Given the description of an element on the screen output the (x, y) to click on. 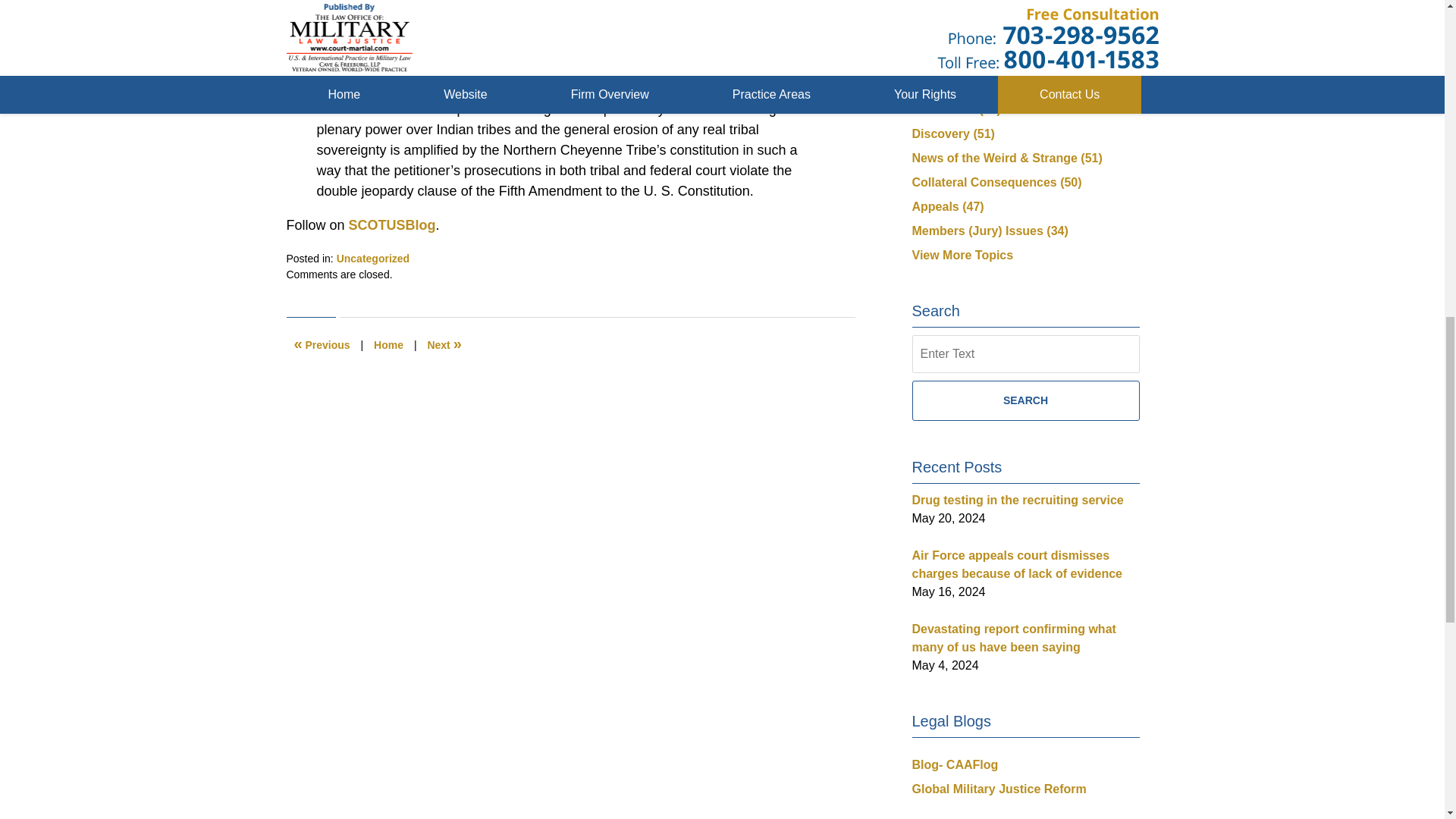
SCOTUSBlog (390, 224)
Home (388, 344)
Uncategorized (372, 258)
Post trial errors (443, 344)
Bearcomesout v. United States (416, 68)
View all posts in Uncategorized (372, 258)
Bearcomesout v. United States (416, 68)
